Given the description of an element on the screen output the (x, y) to click on. 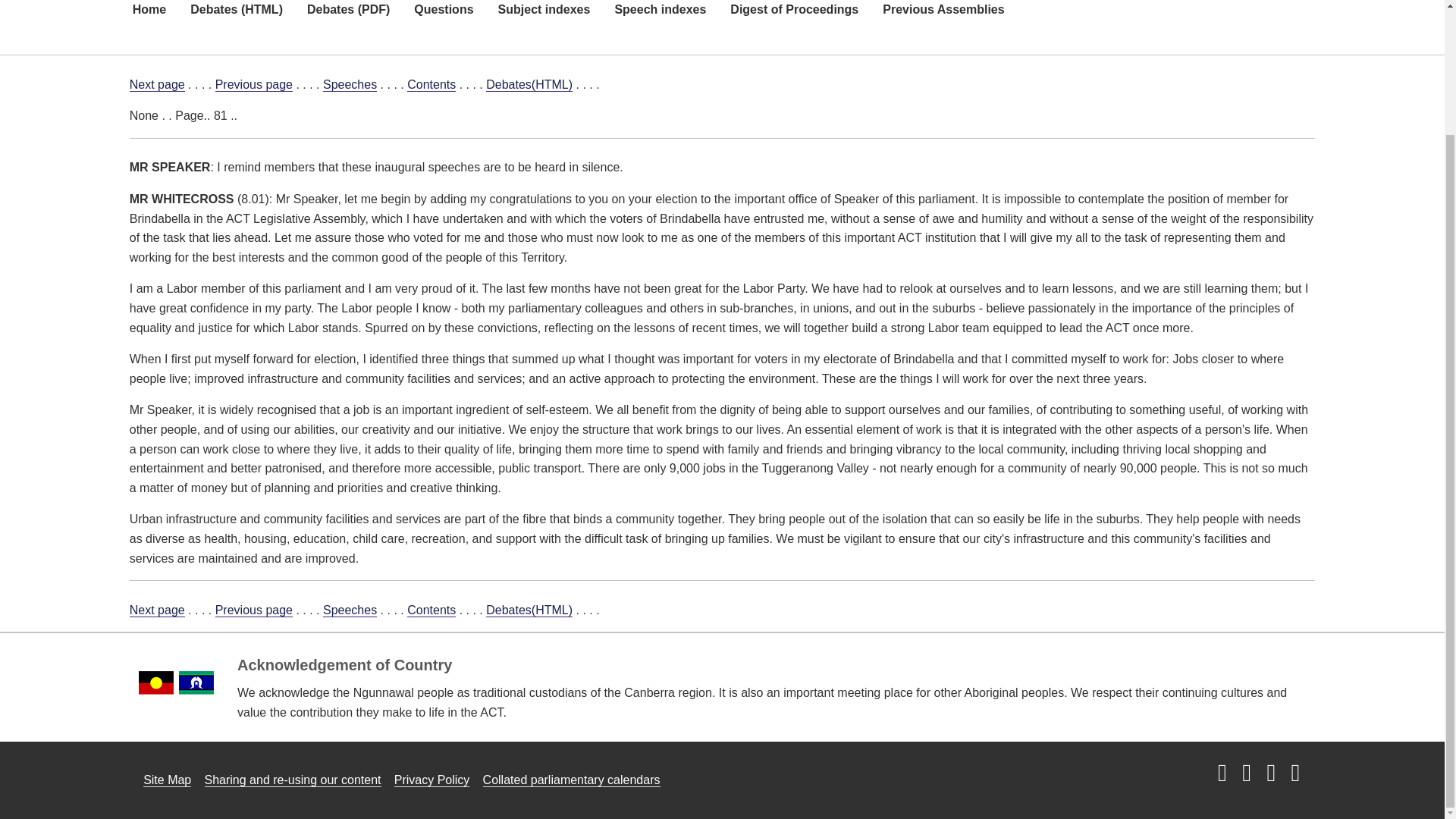
Speeches (350, 84)
Previous page (253, 84)
Questions (442, 20)
Previous page (253, 610)
Privacy Policy (432, 780)
Link to Sharing and re-using our content (293, 780)
Contents (431, 84)
Speech indexes (659, 20)
Next page (156, 84)
Digest of Proceedings (793, 20)
